Given the description of an element on the screen output the (x, y) to click on. 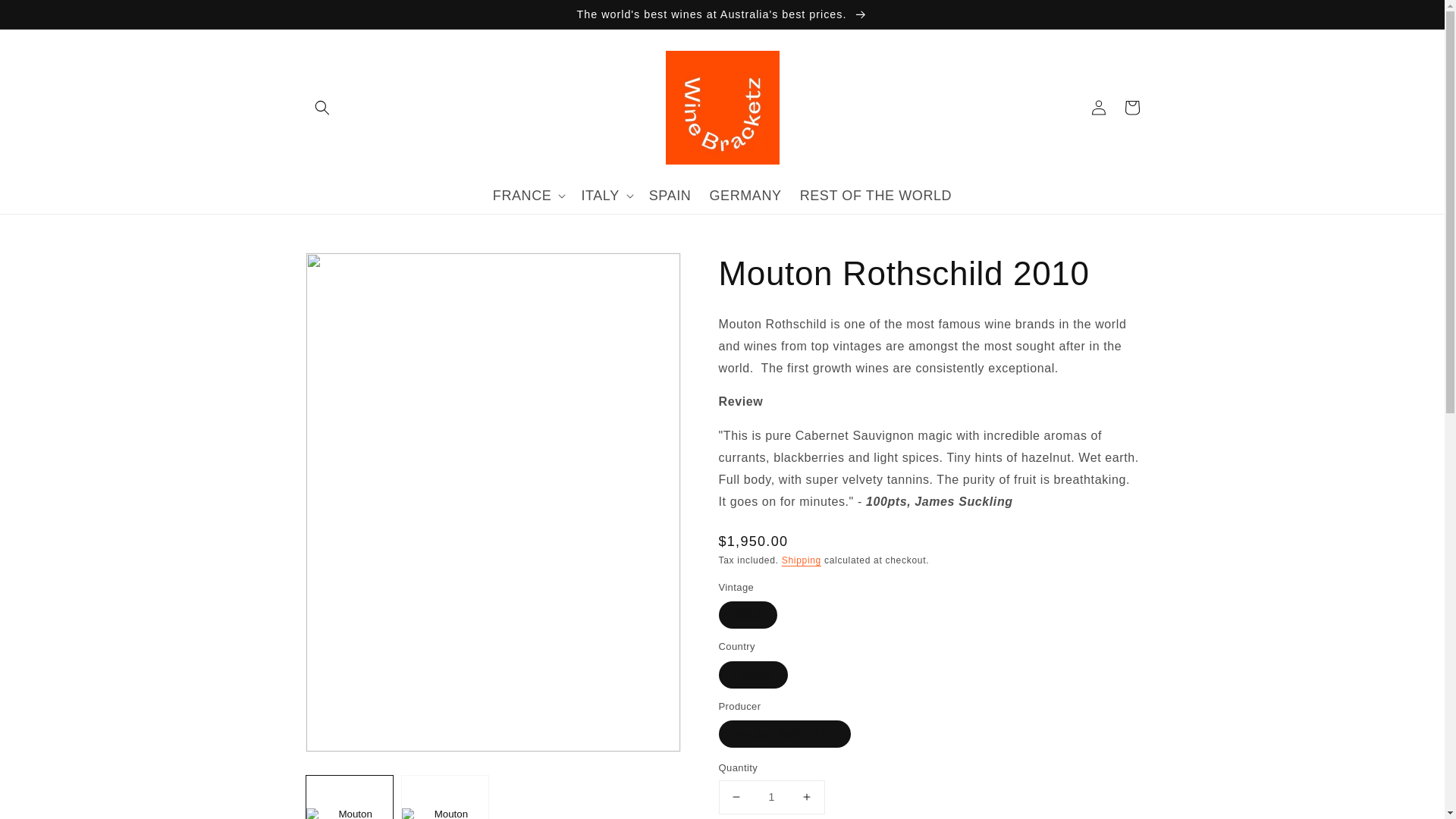
GERMANY (745, 195)
Cart (1131, 107)
SPAIN (670, 195)
Skip to content (45, 16)
1 (772, 797)
REST OF THE WORLD (875, 195)
Log in (1098, 107)
